Given the description of an element on the screen output the (x, y) to click on. 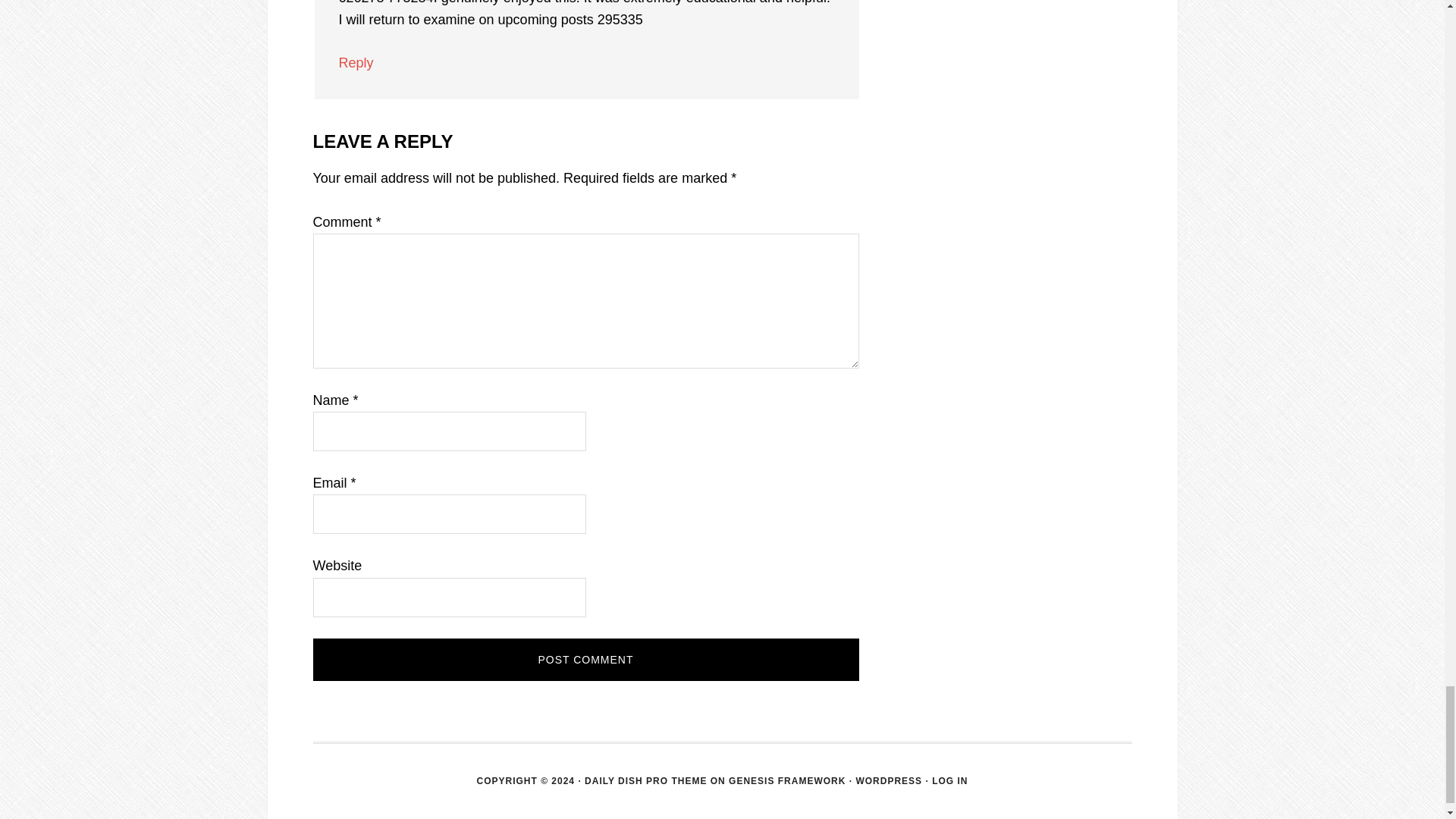
Post Comment (586, 659)
